Given the description of an element on the screen output the (x, y) to click on. 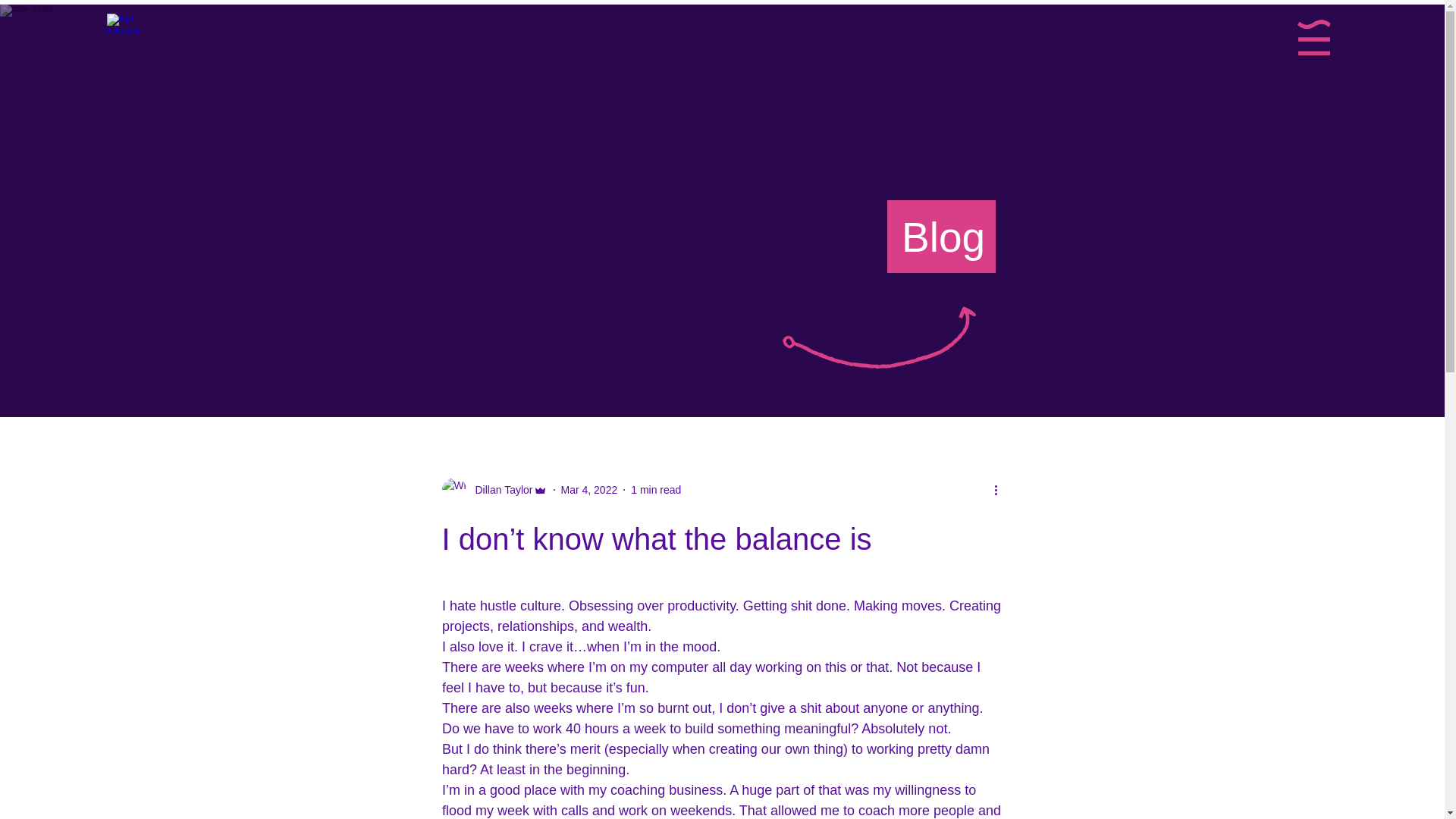
1 min read (655, 490)
Mar 4, 2022 (588, 490)
Dillan Taylor (498, 489)
burnt out (684, 708)
